Given the description of an element on the screen output the (x, y) to click on. 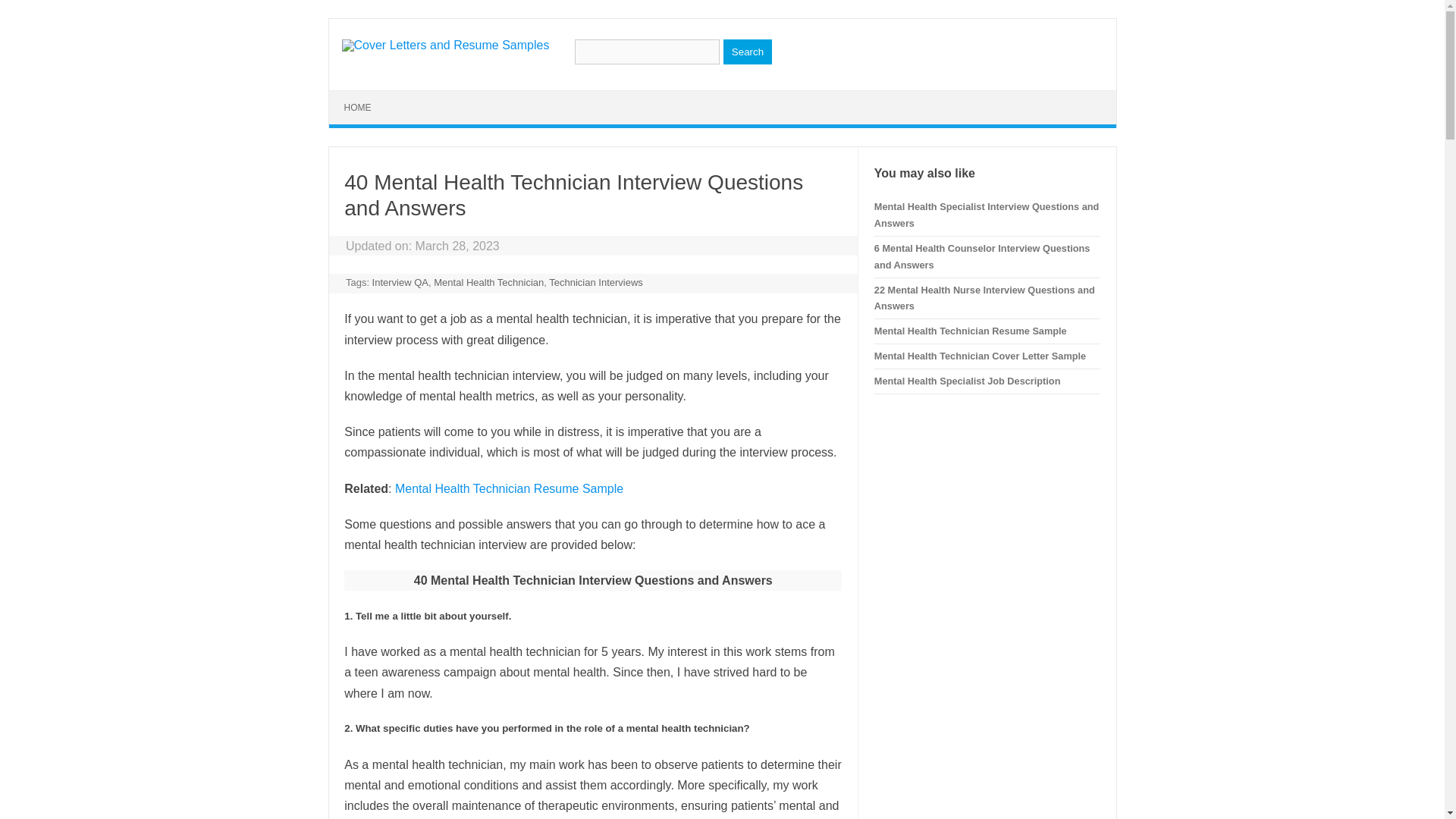
Interview QA (400, 282)
6 Mental Health Counselor Interview Questions and Answers (982, 256)
Search (747, 51)
Mental Health Technician Resume Sample (508, 488)
22 Mental Health Nurse Interview Questions and Answers (984, 297)
Mental Health Technician Cover Letter Sample (980, 355)
Mental Health Technician (488, 282)
Mental Health Technician Resume Sample (971, 330)
Cover Letters and Resume Samples (444, 44)
